Given the description of an element on the screen output the (x, y) to click on. 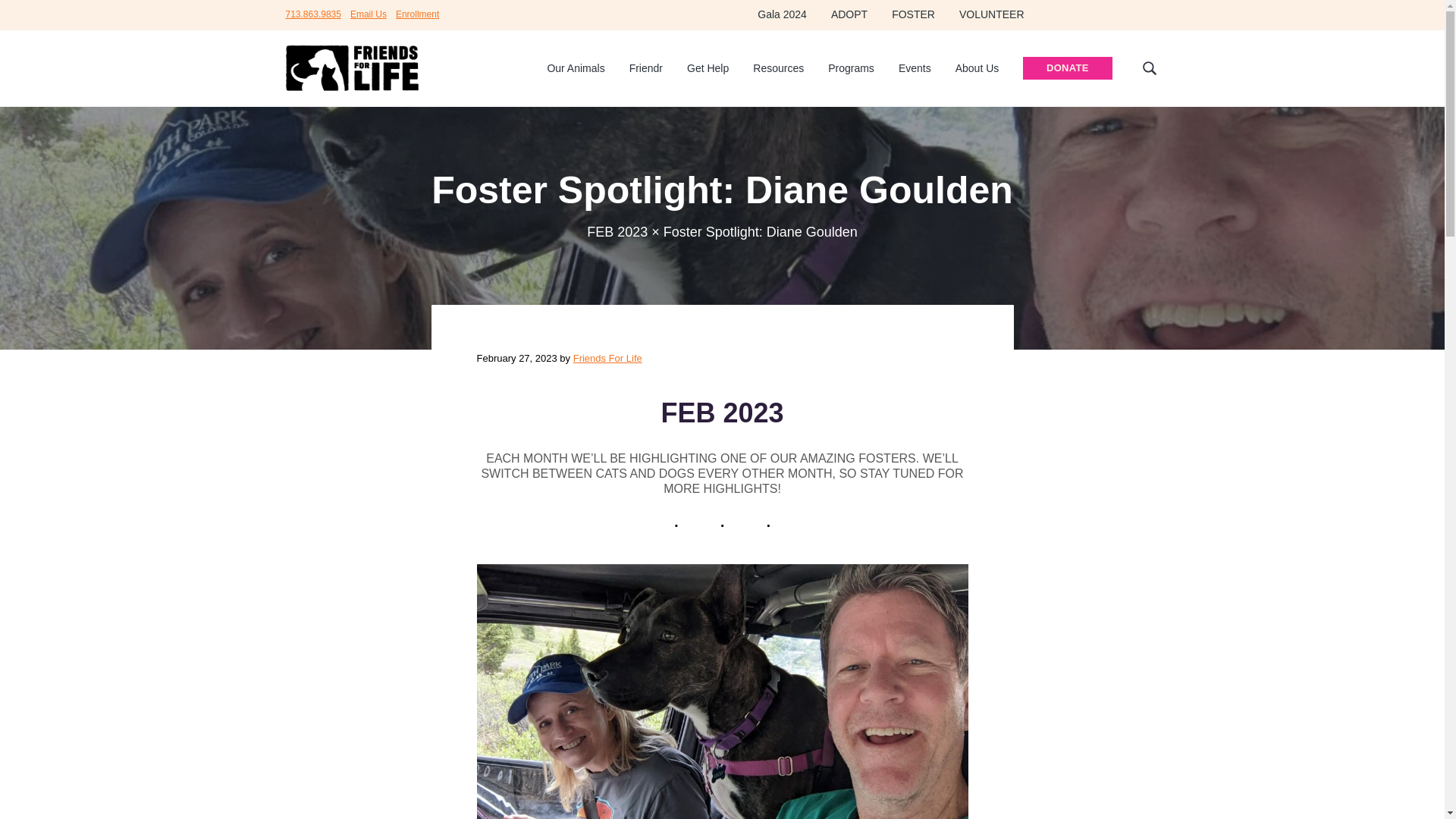
Email Us (368, 14)
Friendr (645, 67)
FOSTER (912, 14)
VOLUNTEER (992, 14)
Our Animals (575, 67)
713.863.9835 (312, 14)
Enrollment (417, 14)
Resources (777, 67)
Get Help (708, 67)
Gala 2024 (781, 14)
ADOPT (849, 14)
